Given the description of an element on the screen output the (x, y) to click on. 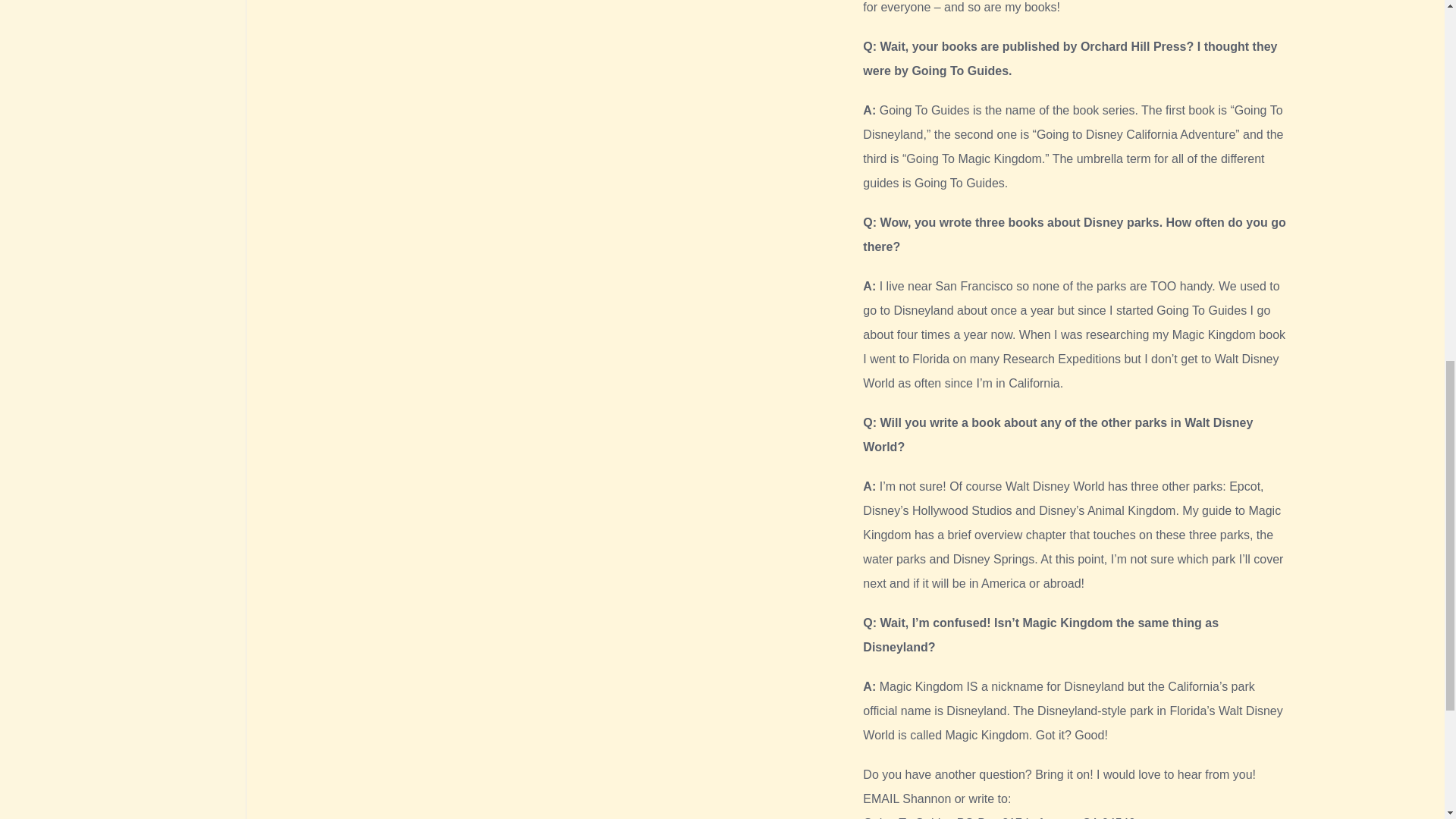
EMAIL (880, 798)
